Given the description of an element on the screen output the (x, y) to click on. 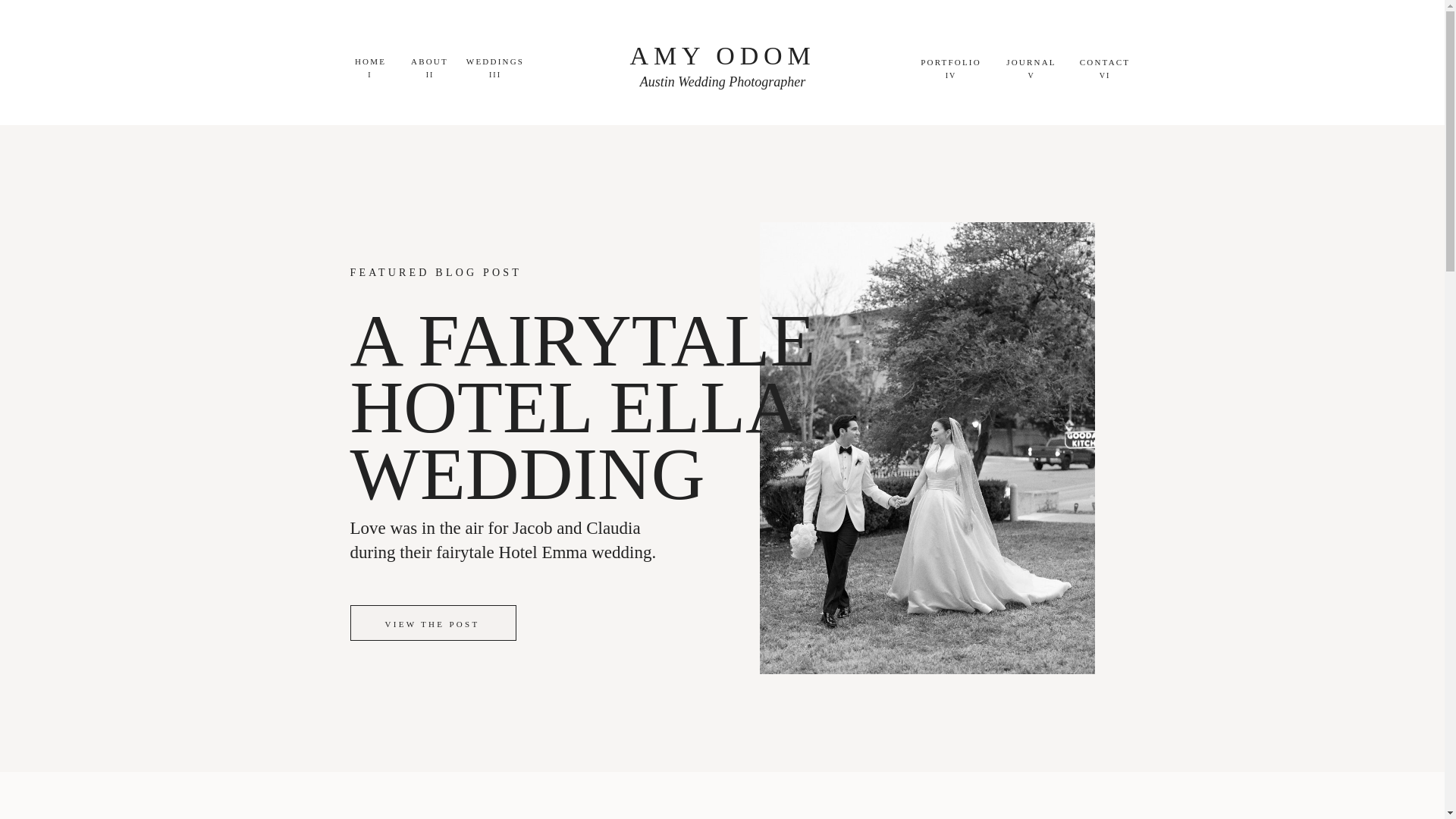
HOME (370, 61)
A FAIRYTALE HOTEL ELLA WEDDING (636, 414)
WEDDINGS (495, 61)
AMY ODOM (722, 57)
ABOUT (429, 61)
Austin Wedding Photographer (722, 83)
VIEW THE POST (432, 632)
PORTFOLIO (951, 61)
CONTACT (1104, 61)
JOURNAL (1031, 61)
